Given the description of an element on the screen output the (x, y) to click on. 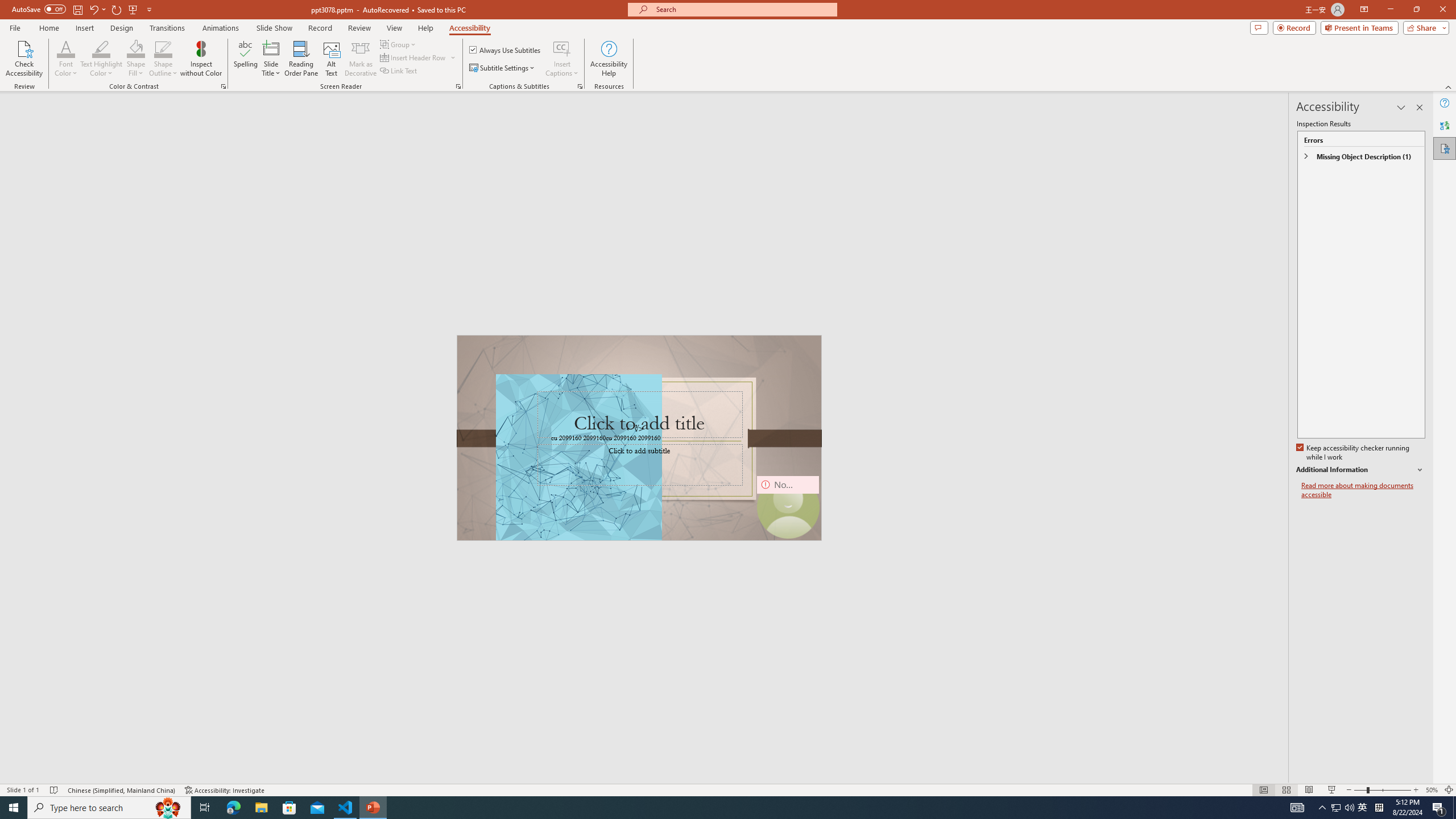
Group (398, 44)
Subtitle Settings (502, 67)
